Given the description of an element on the screen output the (x, y) to click on. 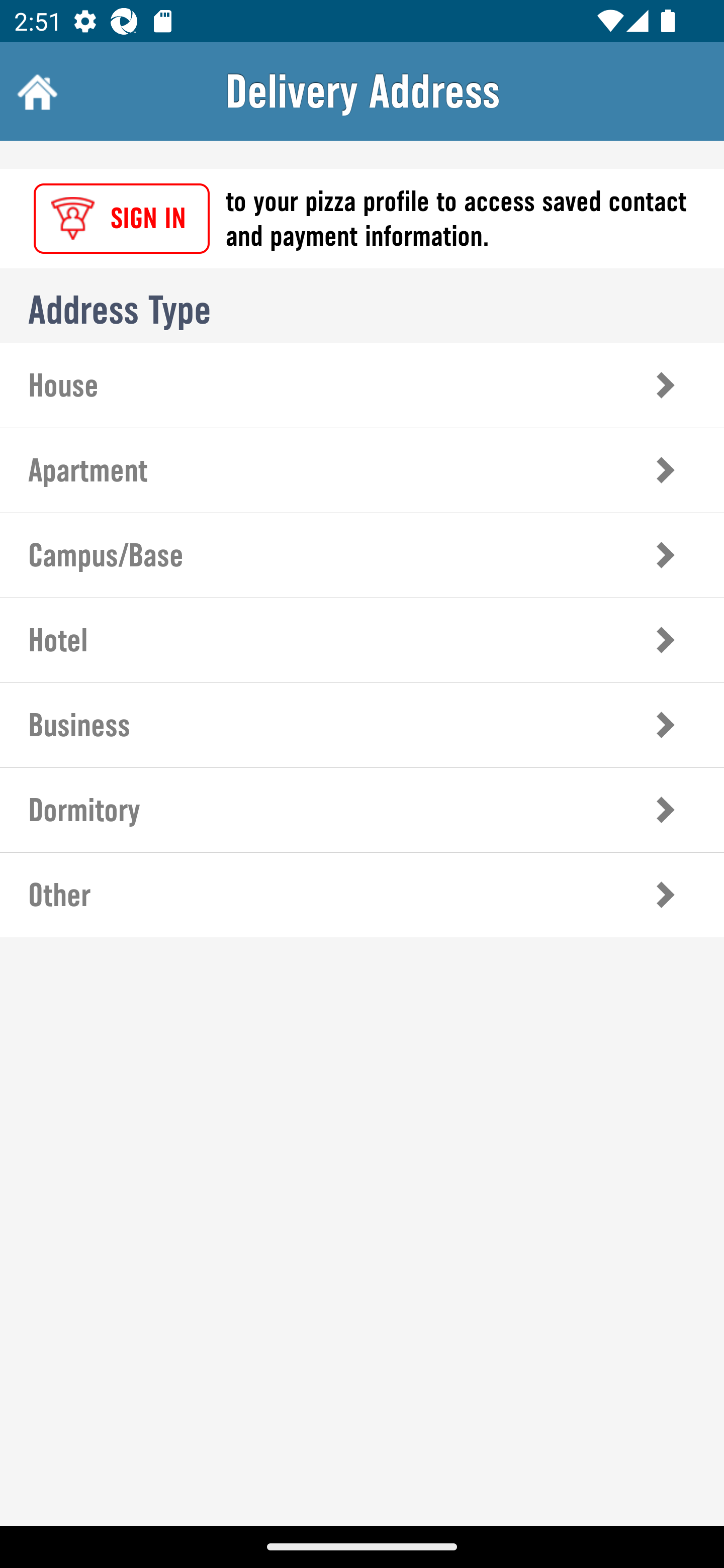
Home (35, 91)
SIGN IN (121, 218)
1 of 7, House House Address Details (362, 385)
2 of 7, Apartment Apartment Address Details (362, 470)
3 of 7, Campus/Base Campus/Base Address Details (362, 554)
4 of 7, Hotel Hotel Address Details (362, 639)
5 of 7, Business Business Address Details (362, 724)
6 of 7, Dormitory Dormitory Address Details (362, 810)
7 of 7, Other Other Address Details (362, 894)
